Given the description of an element on the screen output the (x, y) to click on. 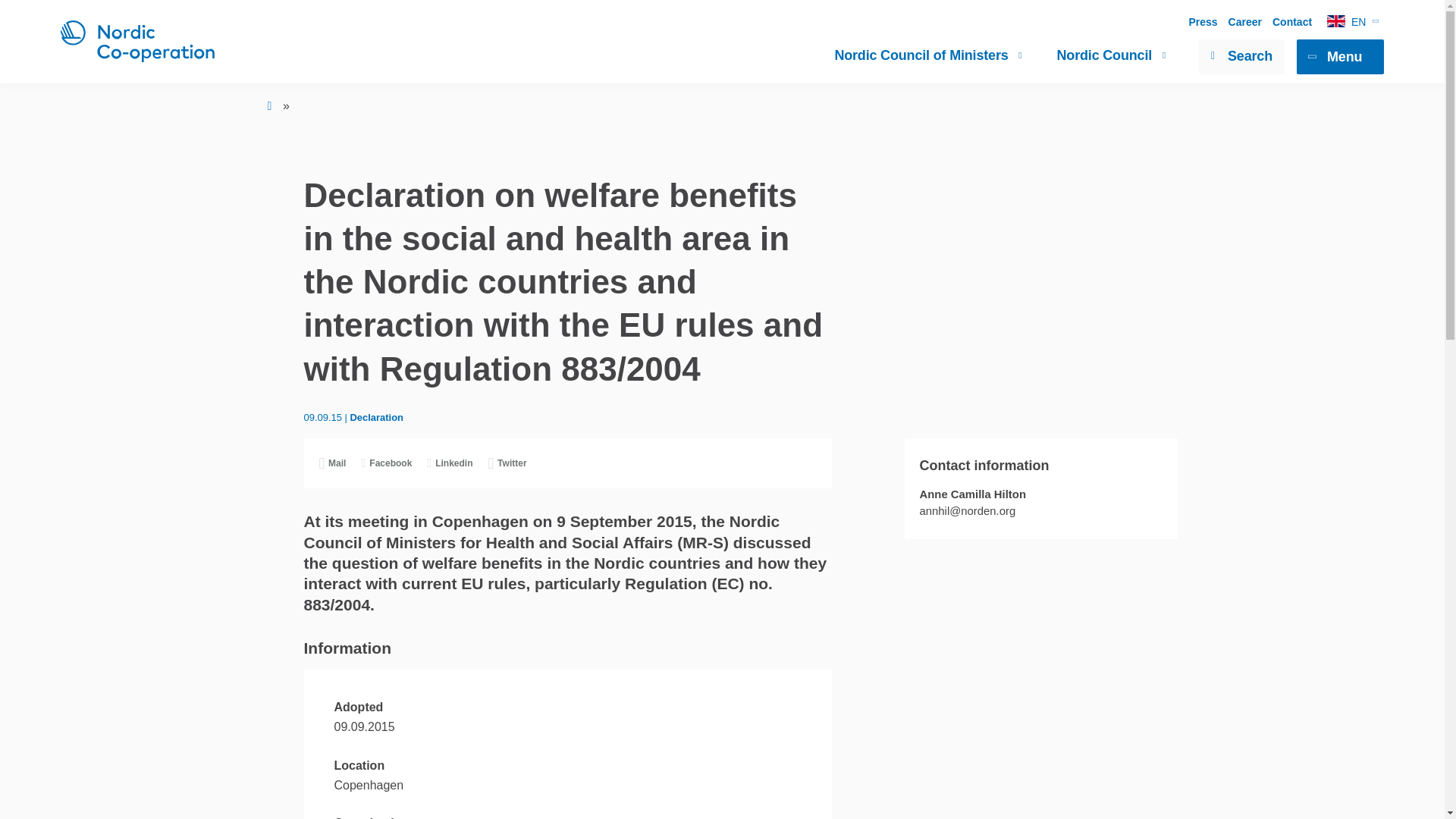
Career (1245, 21)
Contact (1291, 21)
Nordic Council of Ministers (928, 55)
Nordic Council (1112, 55)
Press (1202, 21)
EN (1352, 21)
